Given the description of an element on the screen output the (x, y) to click on. 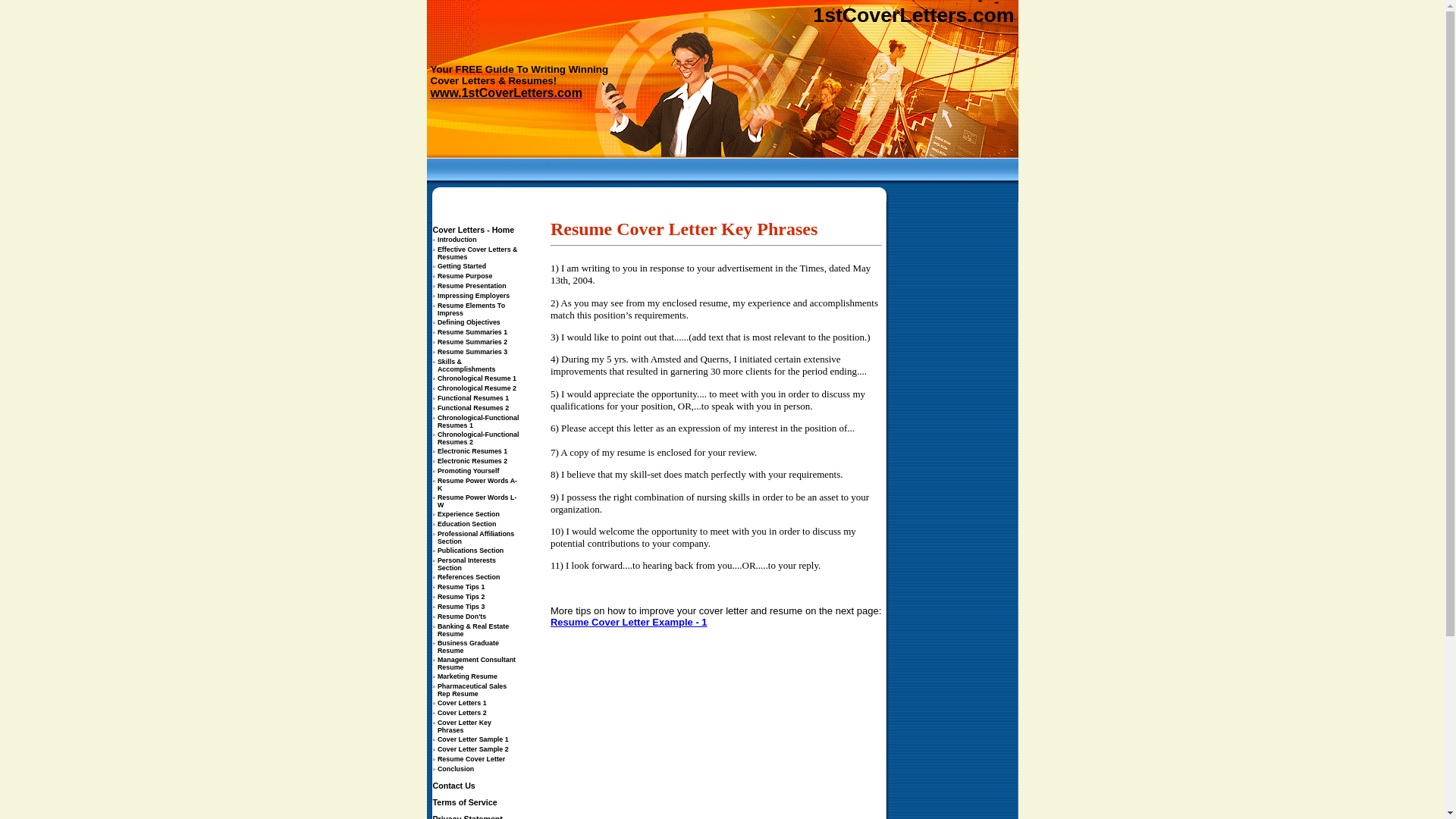
Skills & Accomplishments Element type: text (466, 364)
Resume Power Words L-W Element type: text (476, 500)
Impressing Employers Element type: text (473, 294)
Defining Objectives Element type: text (468, 321)
Management Consultant Resume Element type: text (476, 662)
Banking & Real Estate Resume Element type: text (472, 629)
Resume Summaries 1 Element type: text (472, 330)
Resume Tips 3 Element type: text (460, 605)
References Section Element type: text (468, 575)
Electronic Resumes 2 Element type: text (472, 459)
Resume Elements To Impress Element type: text (471, 308)
Resume Purpose Element type: text (464, 274)
Resume Cover Letter Example - 1 Element type: text (628, 621)
Introduction Element type: text (456, 238)
Chronological Resume 1 Element type: text (476, 377)
Conclusion Element type: text (455, 767)
Cover Letters 2 Element type: text (461, 711)
www.1stCoverLetters.com Element type: text (506, 93)
Resume Cover Letter Element type: text (471, 757)
Chronological Resume 2 Element type: text (476, 387)
Resume Summaries 3 Element type: text (472, 350)
Marketing Resume Element type: text (467, 675)
Electronic Resumes 1 Element type: text (472, 450)
Personal Interests Section Element type: text (466, 563)
Cover Letter Sample 2 Element type: text (472, 748)
Resume Tips 2 Element type: text (460, 595)
Resume Don'ts Element type: text (461, 615)
Experience Section Element type: text (468, 512)
Contact Us Element type: text (453, 785)
Education Section Element type: text (466, 522)
Business Graduate Resume Element type: text (467, 645)
Cover Letter Sample 1 Element type: text (472, 738)
Cover Letters 1 Element type: text (461, 701)
Promoting Yourself Element type: text (468, 469)
Terms of Service Element type: text (464, 801)
Resume Power Words A-K Element type: text (477, 483)
Cover Letter Key Phrases Element type: text (464, 725)
Professional Affiliations Section Element type: text (475, 536)
Resume Presentation Element type: text (471, 284)
Functional Resumes 2 Element type: text (472, 406)
Resume Tips 1 Element type: text (460, 585)
Publications Section Element type: text (470, 549)
Resume Summaries 2 Element type: text (472, 340)
Pharmaceutical Sales Rep Resume Element type: text (471, 688)
Chronological-Functional Resumes 1 Element type: text (477, 420)
Getting Started Element type: text (461, 264)
Cover Letters - Home Element type: text (473, 229)
Chronological-Functional Resumes 2 Element type: text (477, 437)
Functional Resumes 1 Element type: text (472, 396)
Effective Cover Letters & Resumes Element type: text (477, 252)
